Given the description of an element on the screen output the (x, y) to click on. 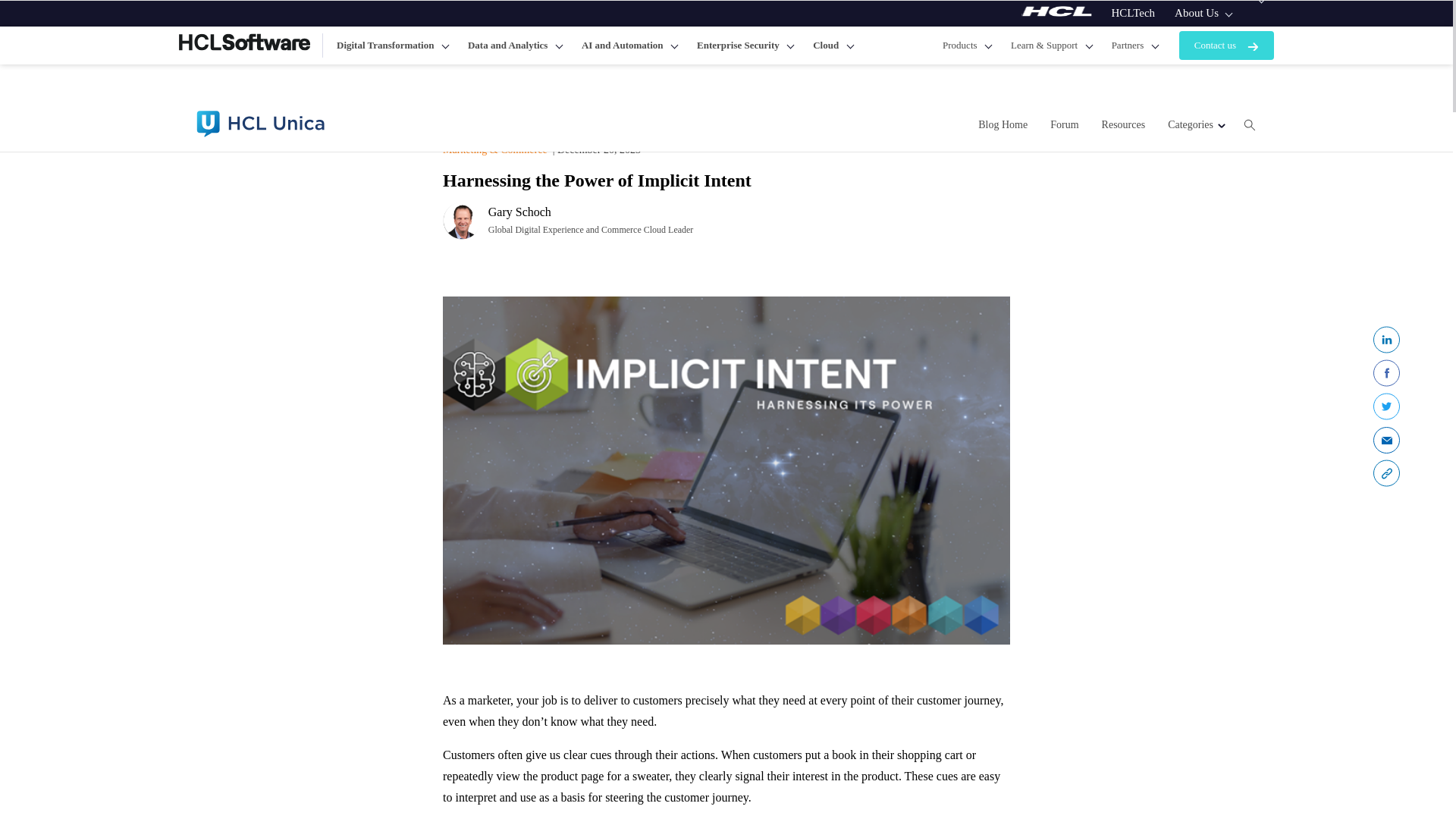
About Us (1202, 13)
Digital Transformation   (392, 45)
HCLTech (1134, 13)
HCLTech (1134, 13)
